Given the description of an element on the screen output the (x, y) to click on. 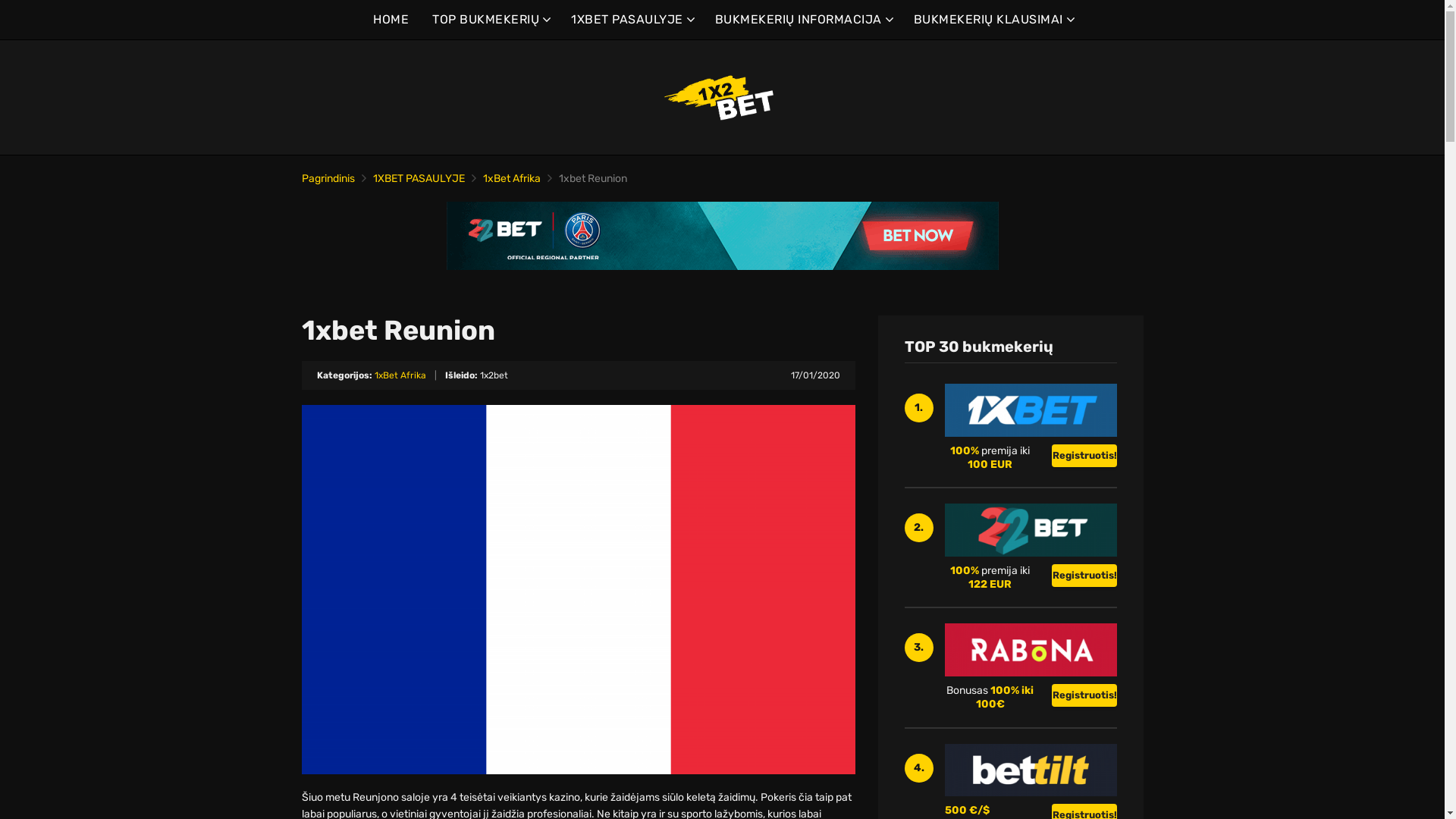
22Bet Element type: hover (721, 235)
Pagrindinis Element type: text (327, 178)
Registruotis! Element type: text (1083, 575)
1XBET PASAULYJE Element type: text (631, 19)
Registruotis! Element type: text (1083, 695)
1xBet Afrika Element type: text (510, 178)
1xBet Afrika Element type: text (400, 375)
Registruotis! Element type: text (1083, 455)
1XBET PASAULYJE Element type: text (418, 178)
HOME Element type: text (390, 19)
